Given the description of an element on the screen output the (x, y) to click on. 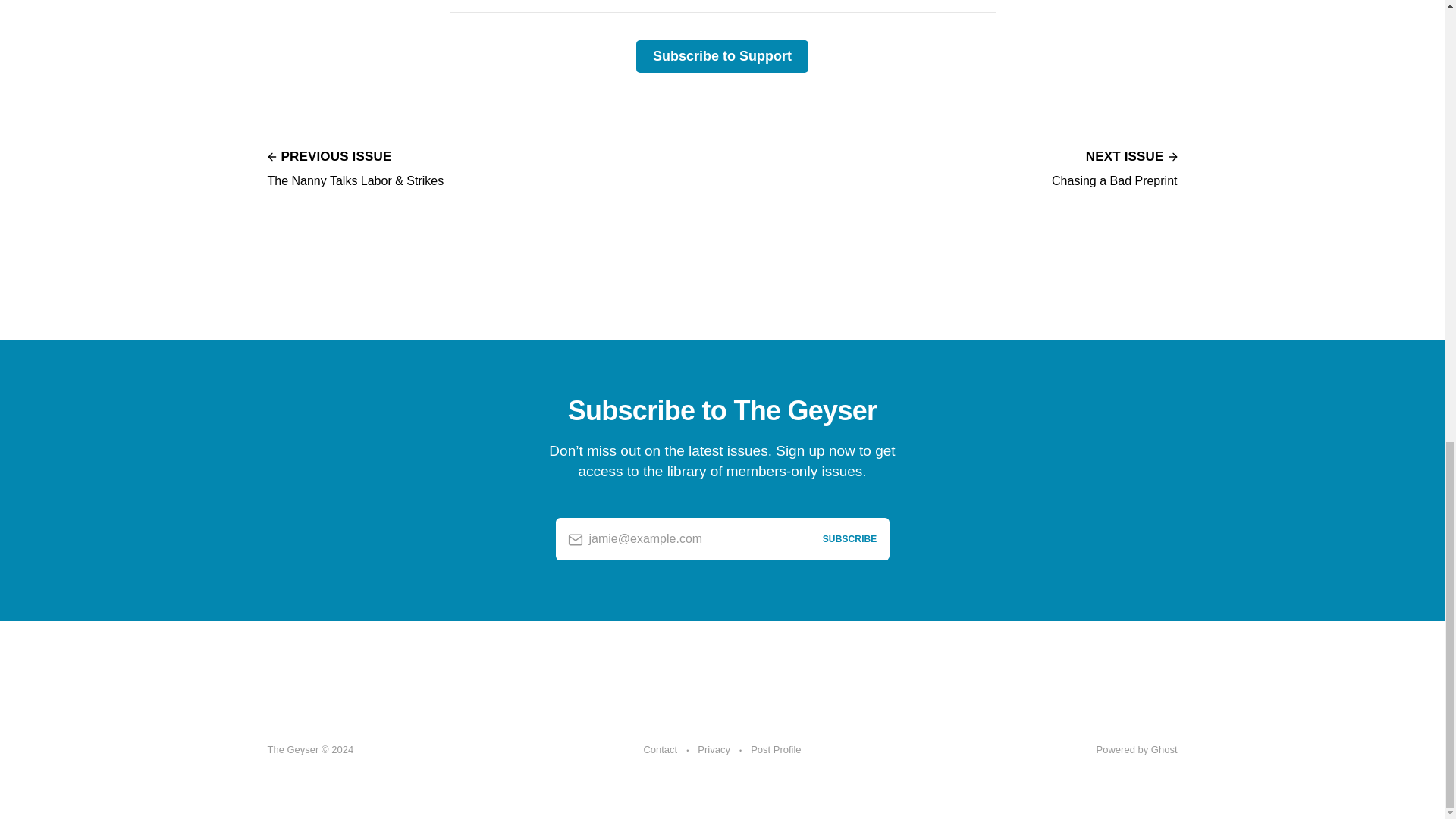
Post Profile (775, 750)
Subscribe to Support (722, 56)
Contact (660, 750)
Powered by Ghost (1113, 167)
Privacy (1136, 749)
